Given the description of an element on the screen output the (x, y) to click on. 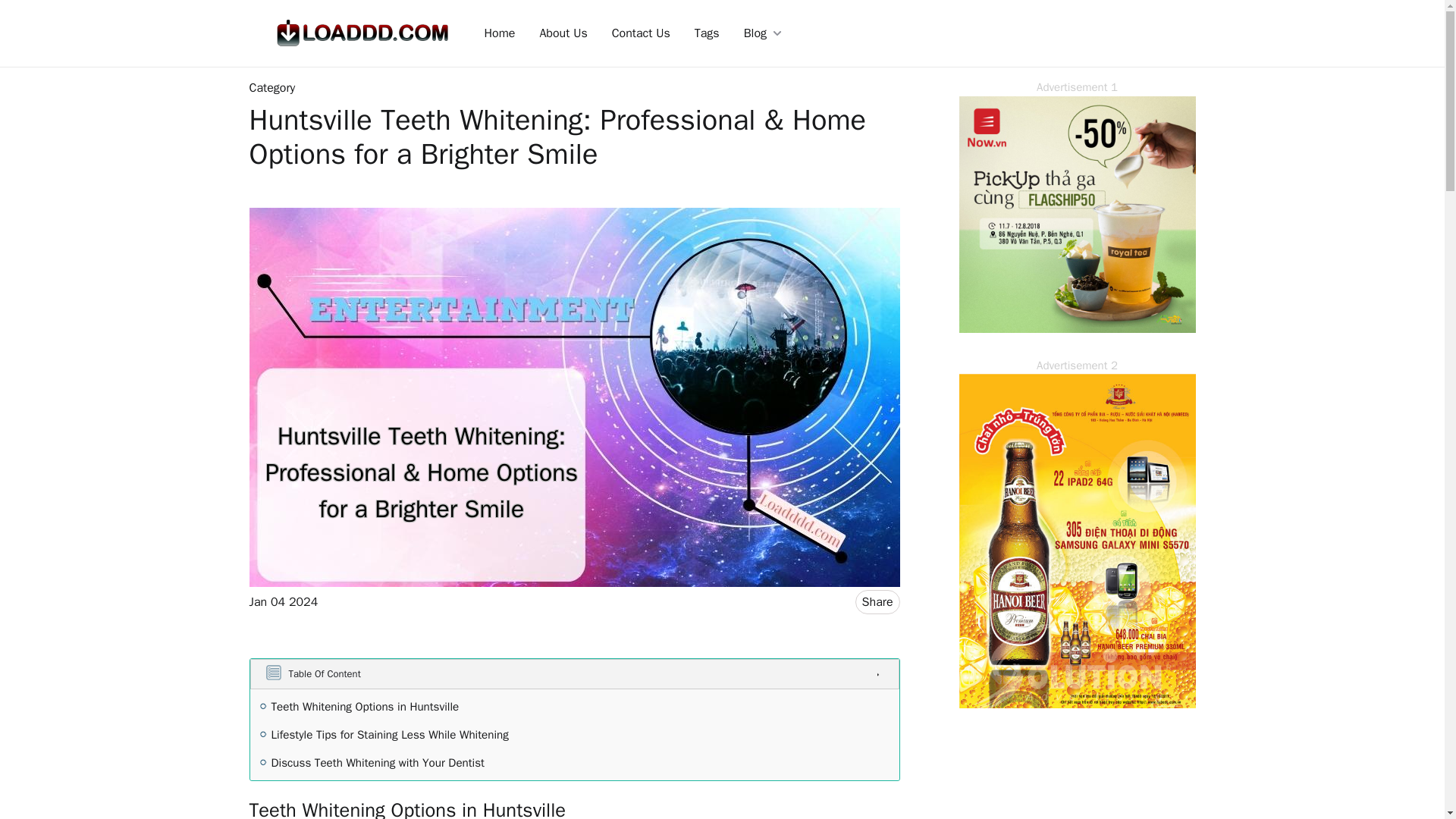
Discuss Teeth Whitening with Your Dentist (377, 763)
Tags (707, 33)
Teeth Whitening Options in Huntsville (365, 706)
Share (877, 601)
About Us (562, 33)
Lifestyle Tips for Staining Less While Whitening (389, 734)
Blog (762, 33)
Home (499, 33)
Contact Us (640, 33)
Category (271, 87)
